Given the description of an element on the screen output the (x, y) to click on. 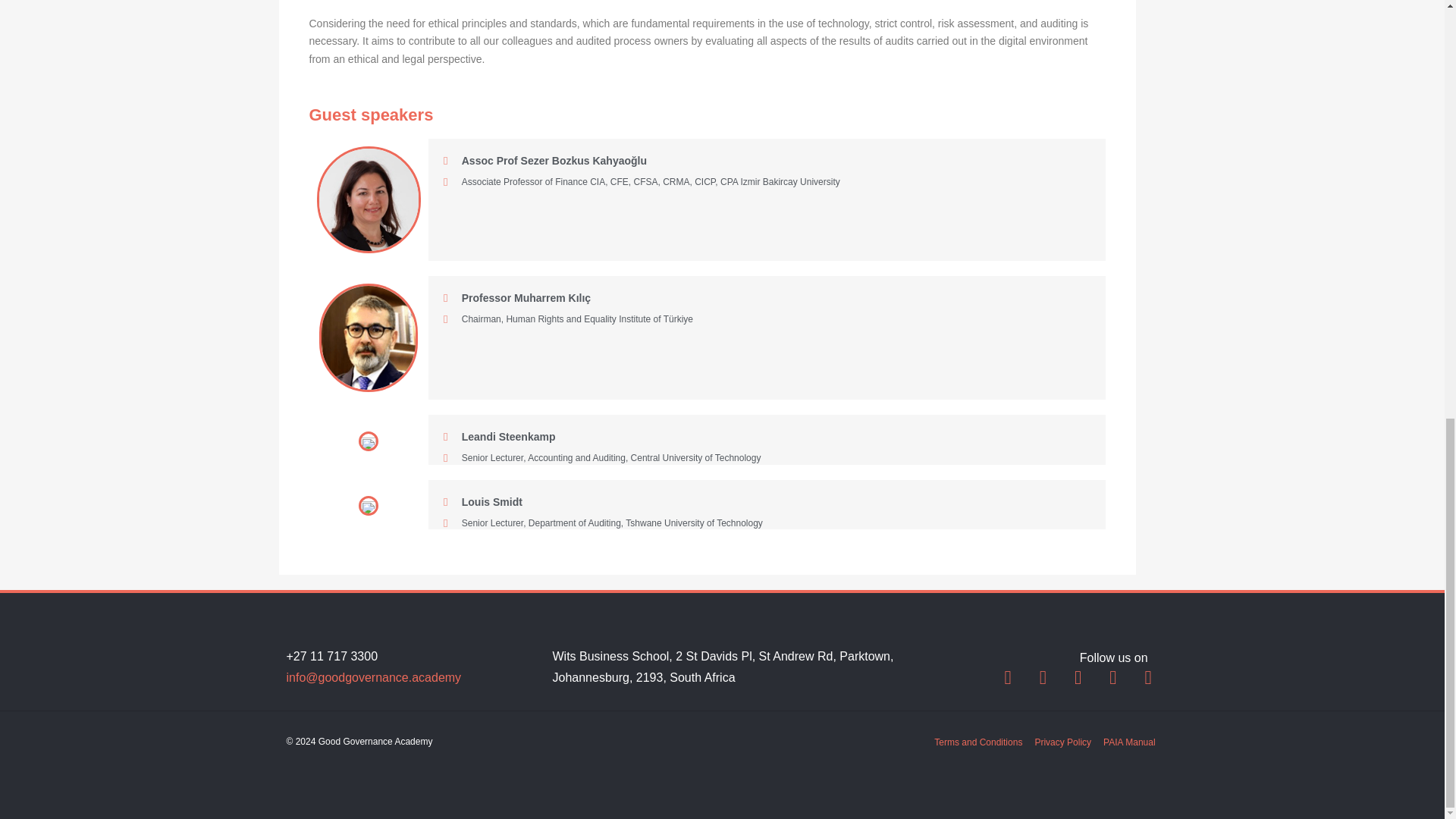
Leandi Steenkamp (499, 436)
Louis Smidt (483, 502)
PAIA Manual (1128, 742)
Privacy Policy (1061, 742)
Terms and Conditions (978, 742)
